Given the description of an element on the screen output the (x, y) to click on. 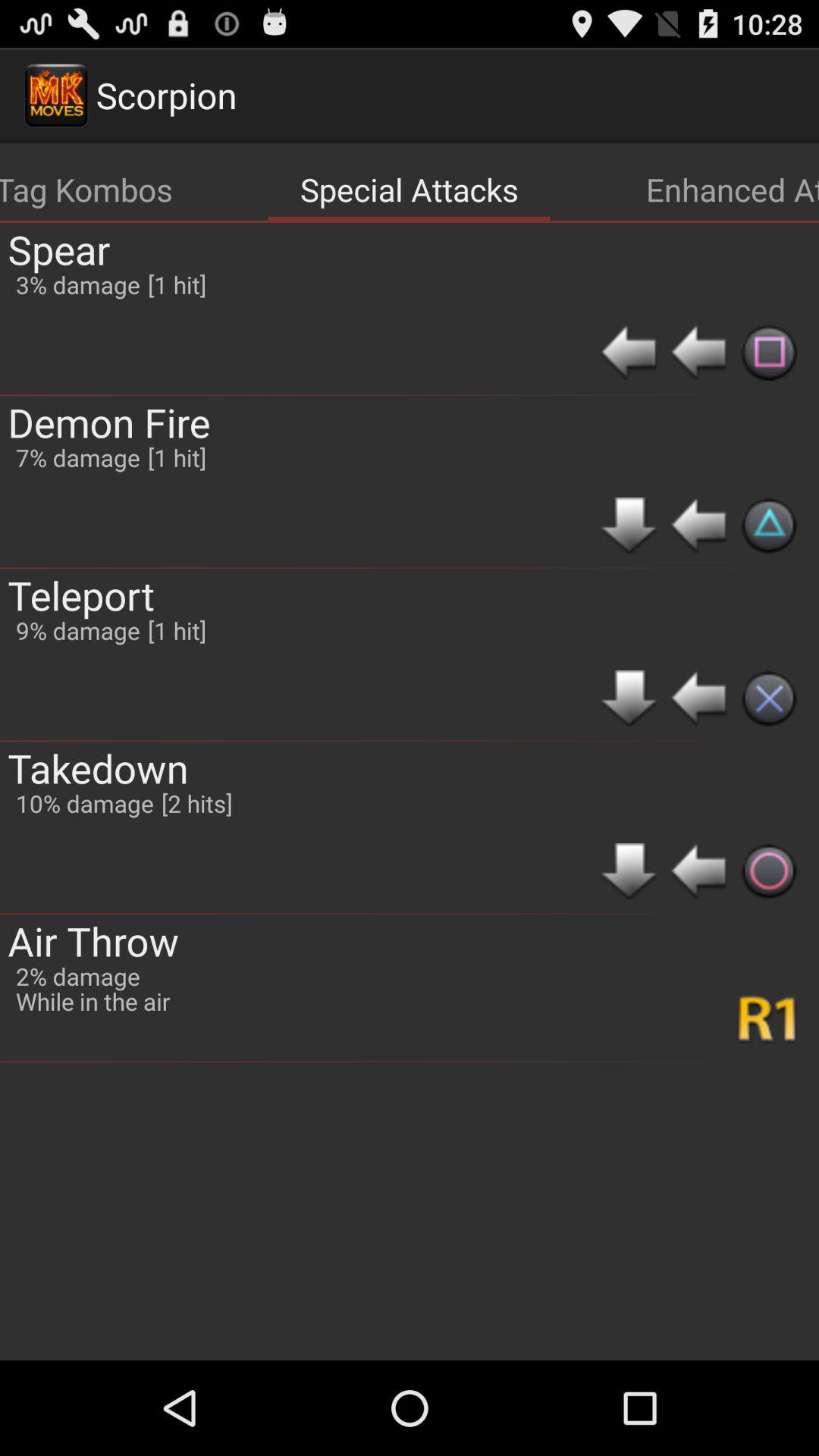
select tag kombos (86, 189)
